Given the description of an element on the screen output the (x, y) to click on. 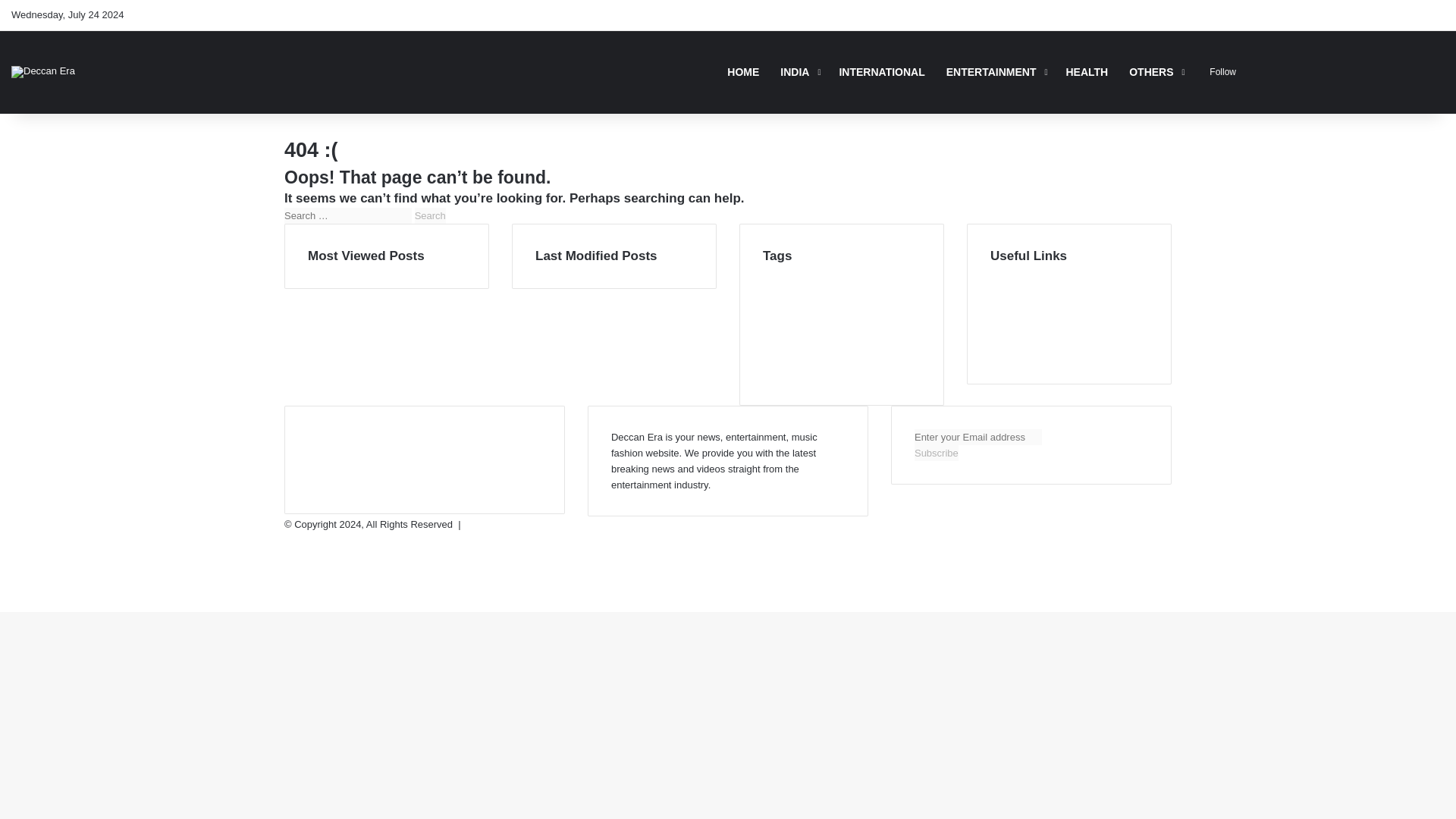
BJD (769, 273)
INDIA (799, 71)
HEALTH (1087, 71)
Random Article (1258, 71)
INTERNATIONAL (881, 71)
HOME (743, 71)
Switch skin (1280, 71)
Random Article (1258, 71)
Home (1003, 273)
About Us (1010, 288)
RSS (1433, 15)
Search (429, 215)
Privacy Policy (1020, 320)
UP: RSS worker thrashed by cops (823, 373)
Deccan Era (43, 71)
